Given the description of an element on the screen output the (x, y) to click on. 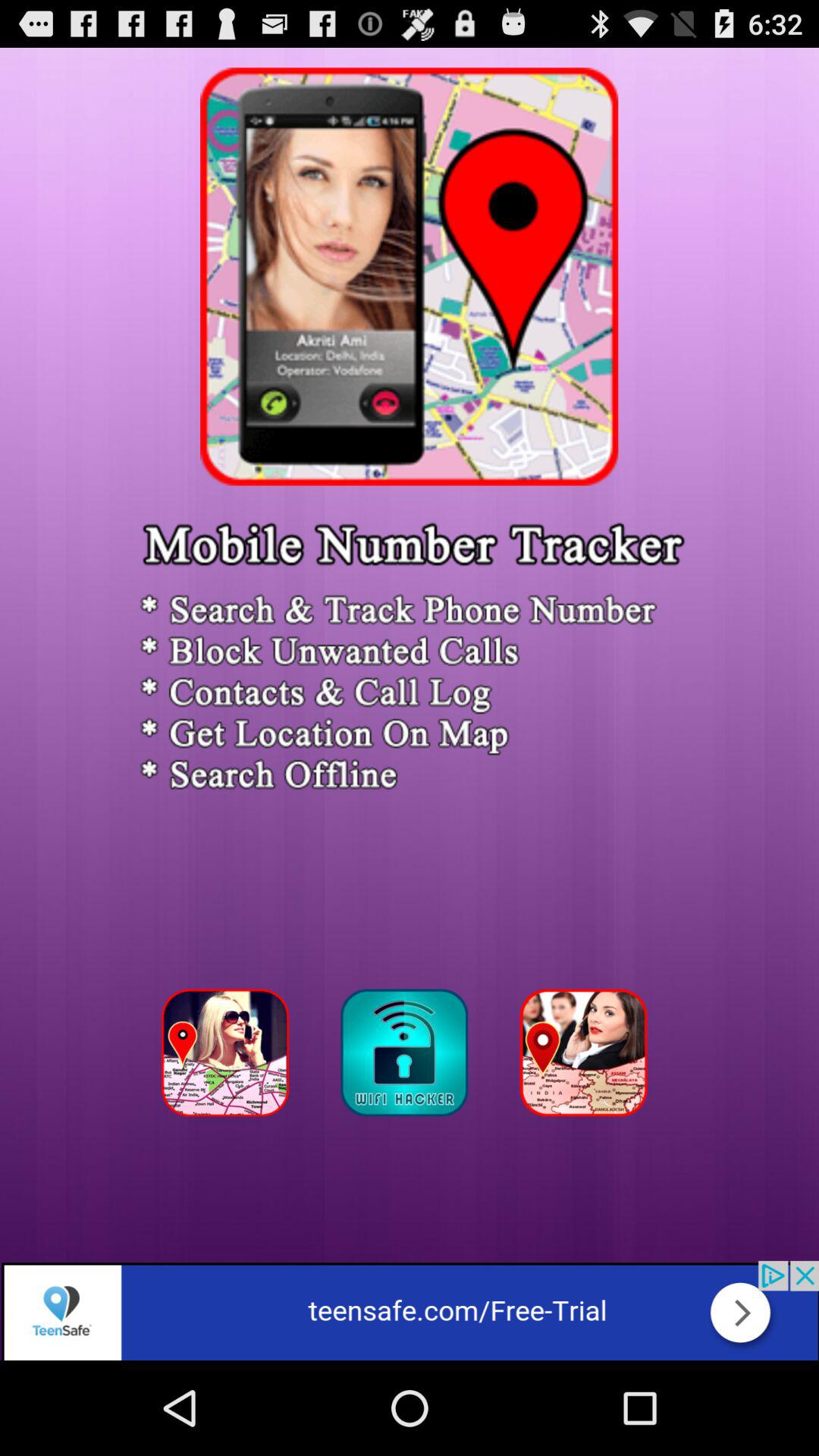
advertisement (409, 1310)
